Given the description of an element on the screen output the (x, y) to click on. 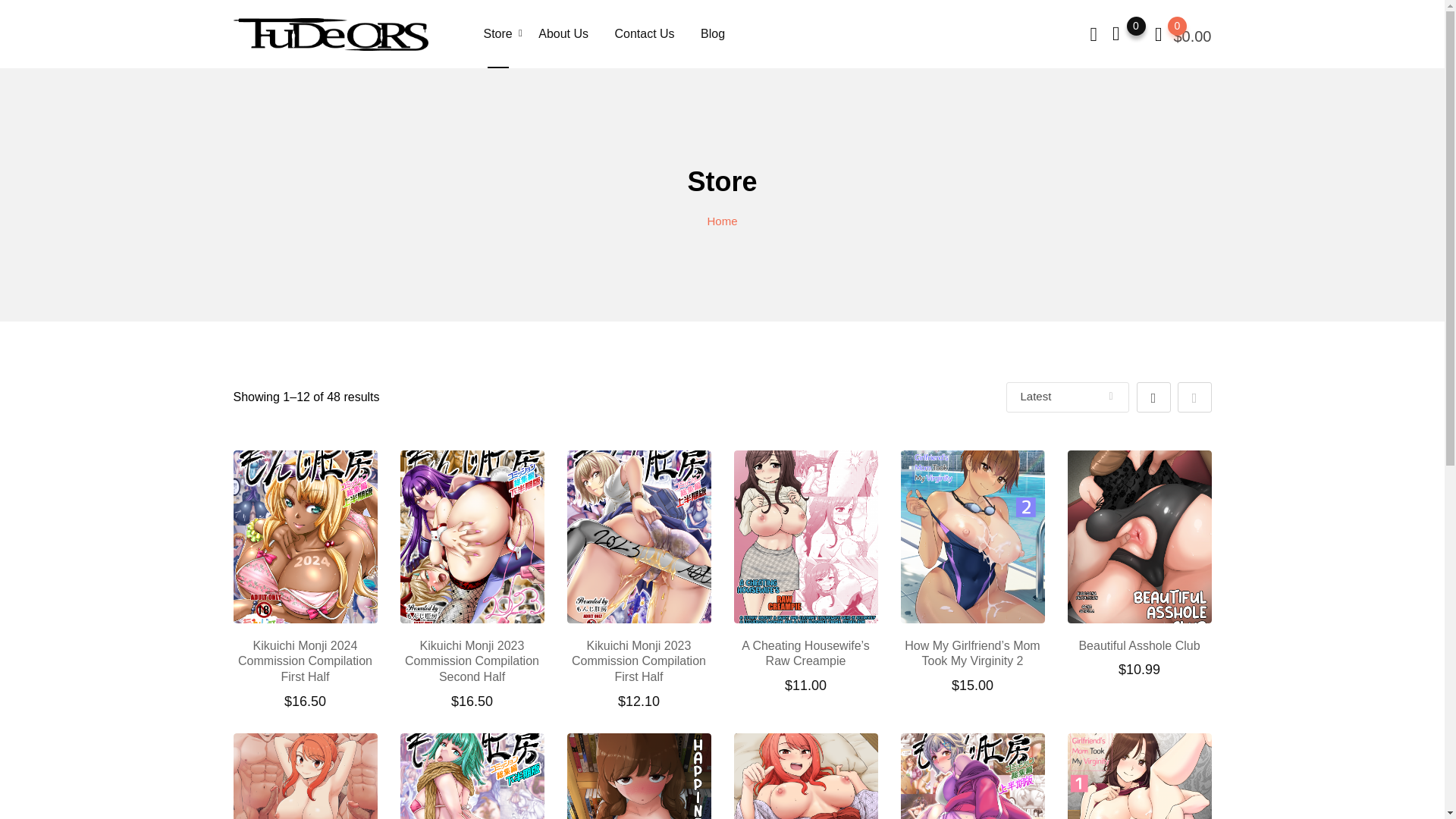
Grid View (1152, 397)
Contact Us (643, 33)
About Us (563, 33)
List View (1193, 397)
